Given the description of an element on the screen output the (x, y) to click on. 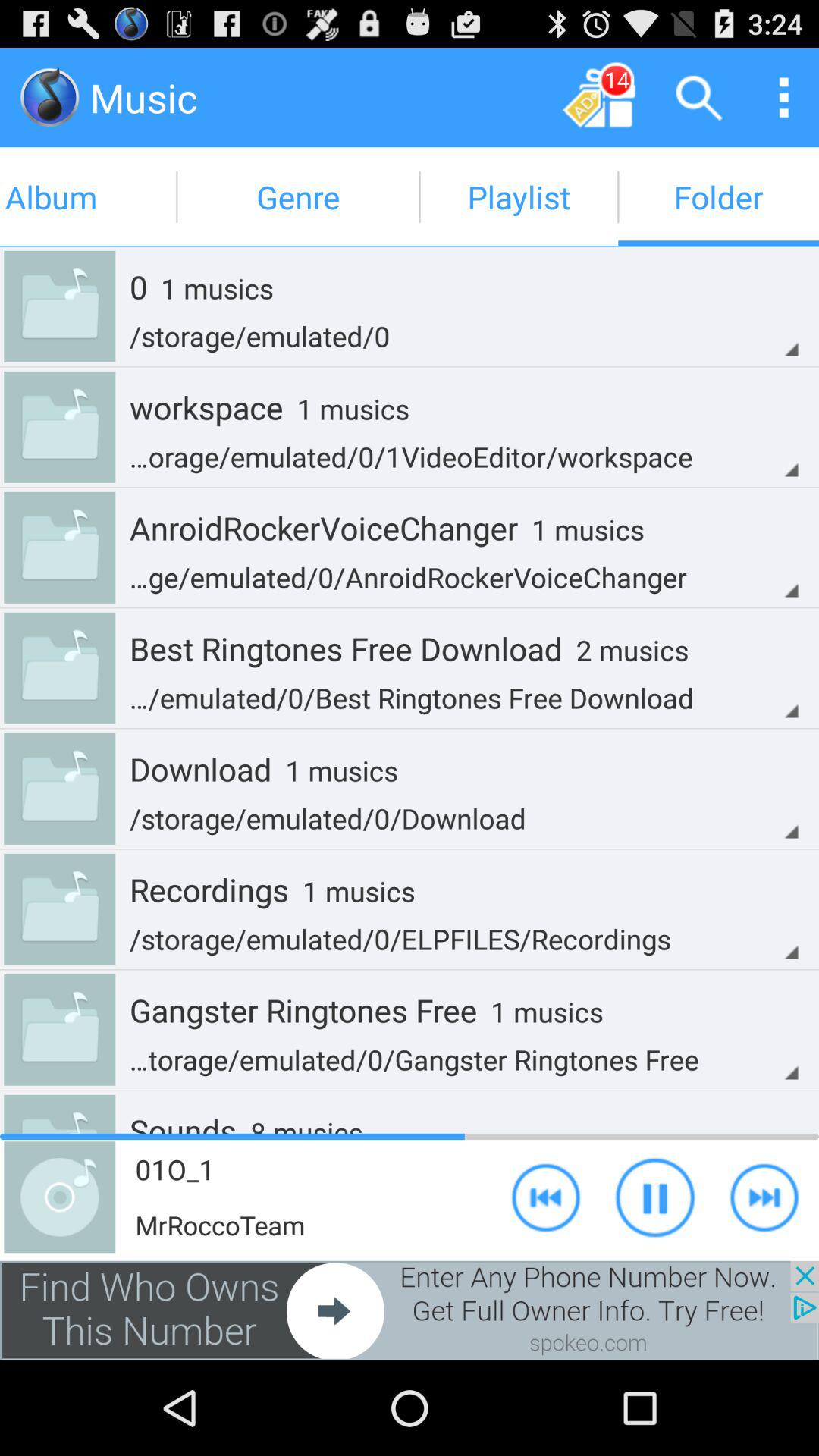
search (699, 97)
